Given the description of an element on the screen output the (x, y) to click on. 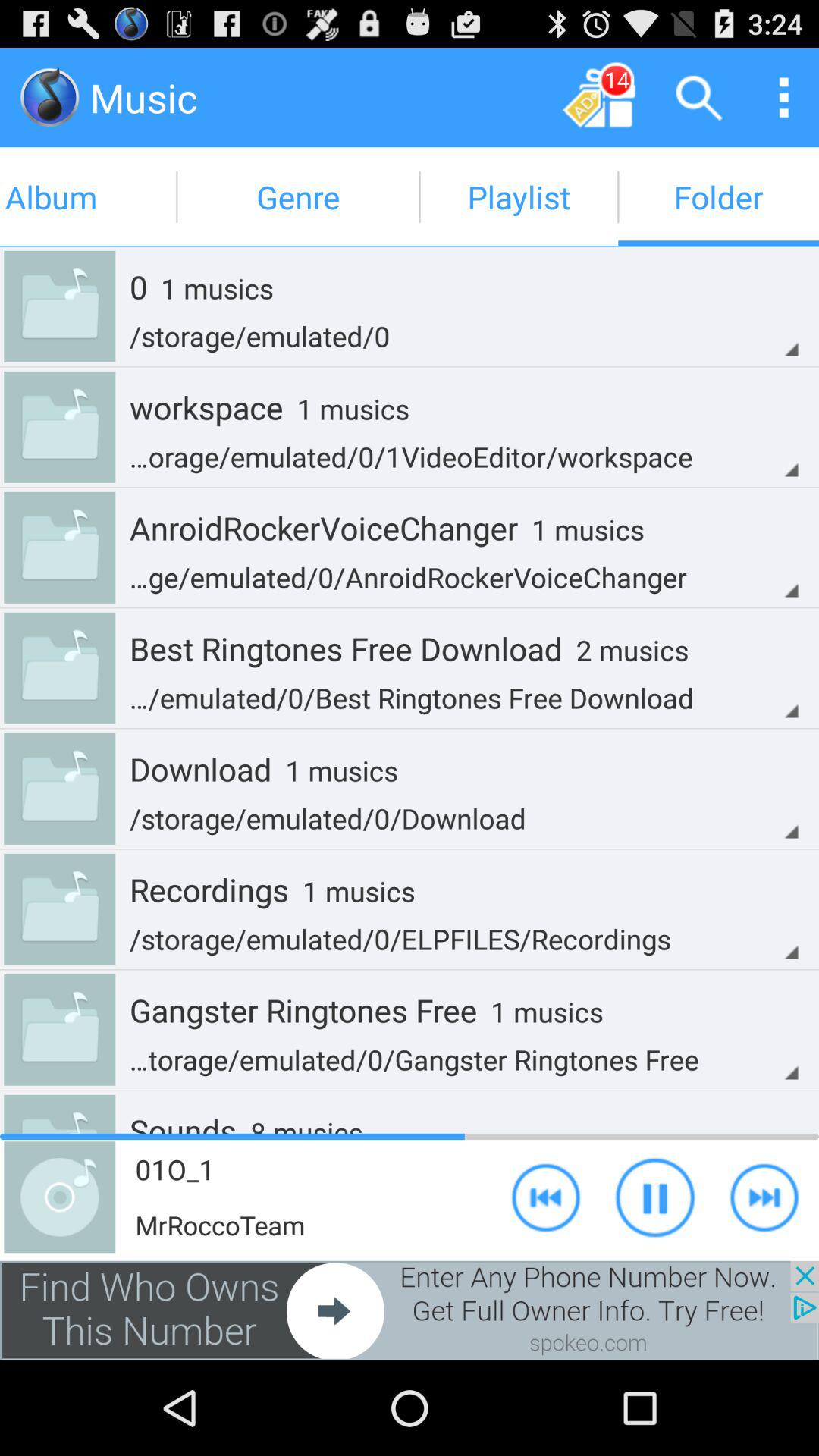
search (699, 97)
